Given the description of an element on the screen output the (x, y) to click on. 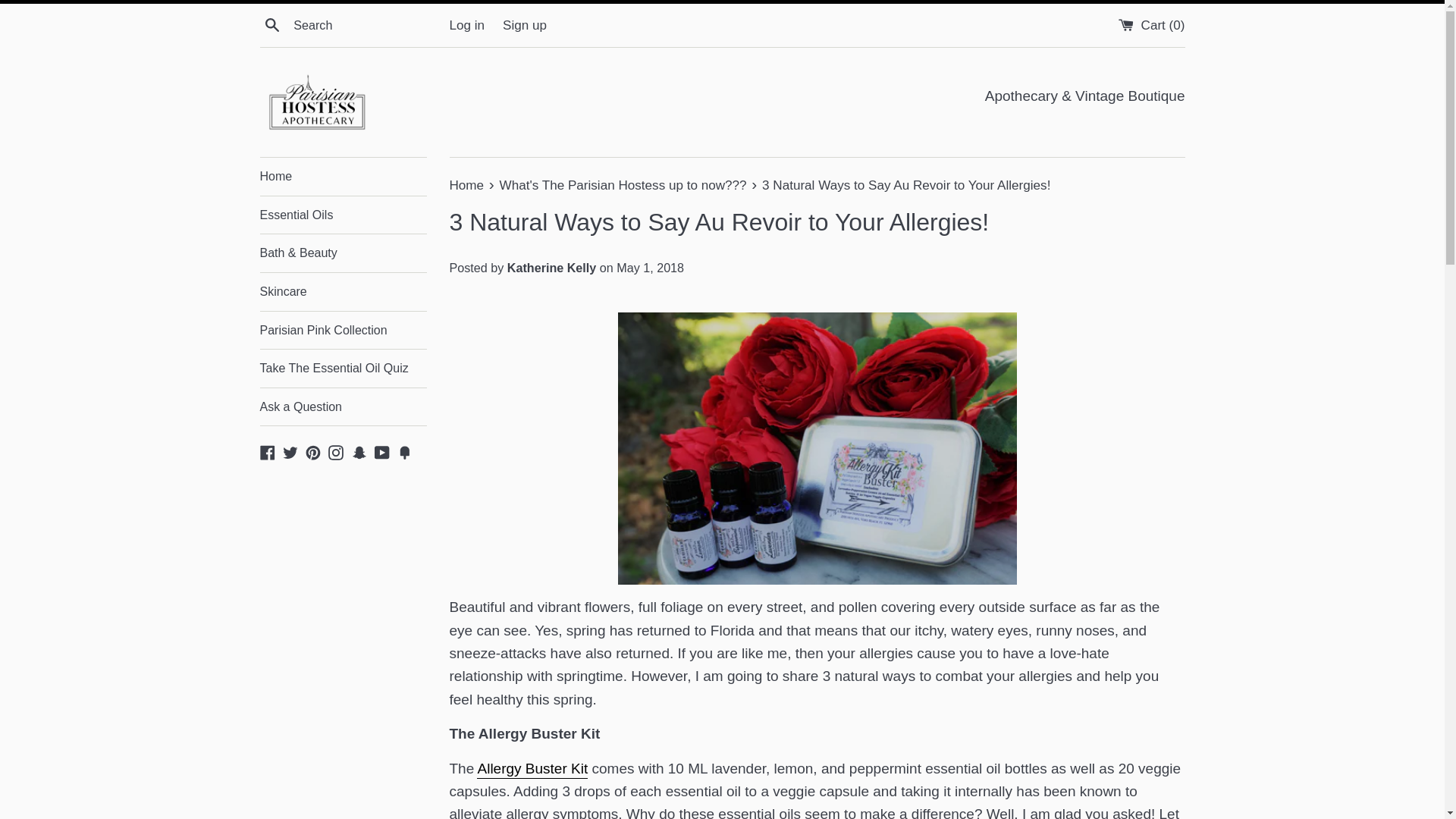
Sign up (524, 25)
Pinterest (312, 451)
Snapchat (359, 451)
Log in (466, 25)
Instagram (336, 451)
Home (342, 176)
Parisian Pink Collection (342, 330)
Home (467, 185)
Ask a Question (342, 406)
Allergy Buster Kit (532, 769)
